Given the description of an element on the screen output the (x, y) to click on. 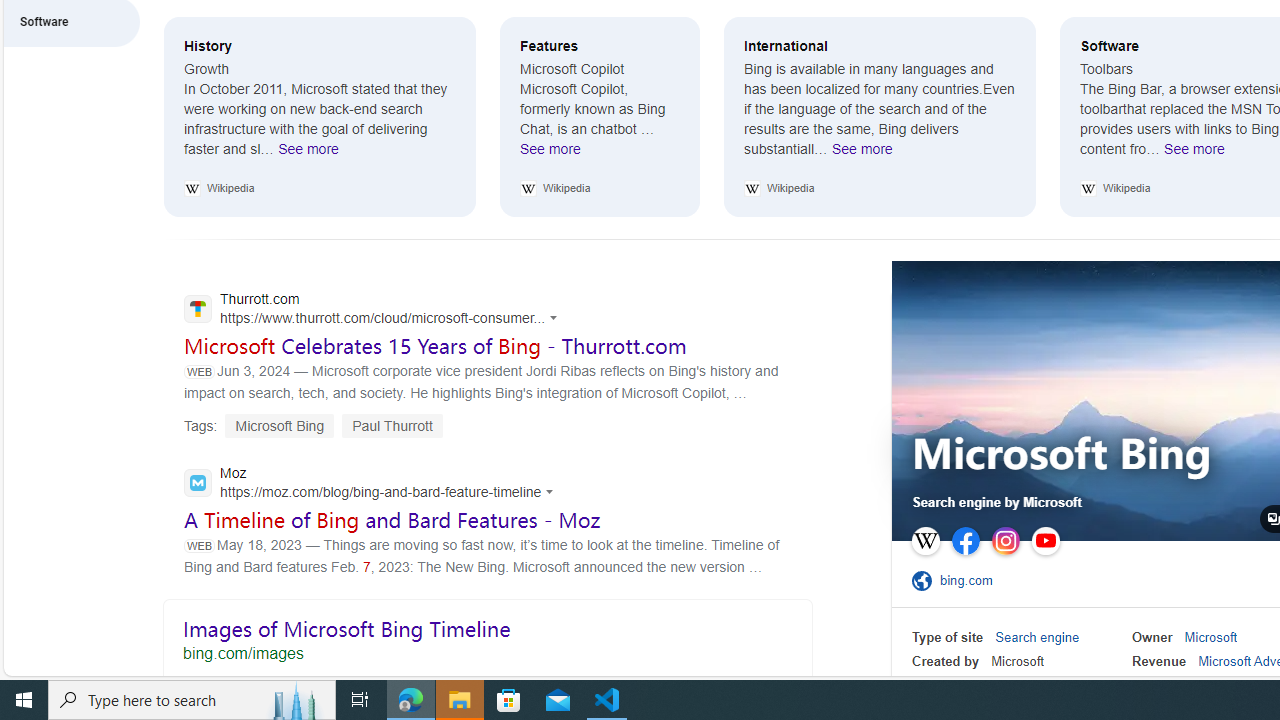
Actions for this site (552, 491)
Microsoft Bing (1061, 455)
See more Software (1193, 153)
Official Site (925, 580)
See more Features (550, 153)
Images of Microsoft Bing Timeline (487, 636)
Owner (1151, 637)
Facebook (966, 541)
Moz (374, 484)
Instagram (1006, 541)
See more International (861, 153)
Type of site (947, 637)
